Given the description of an element on the screen output the (x, y) to click on. 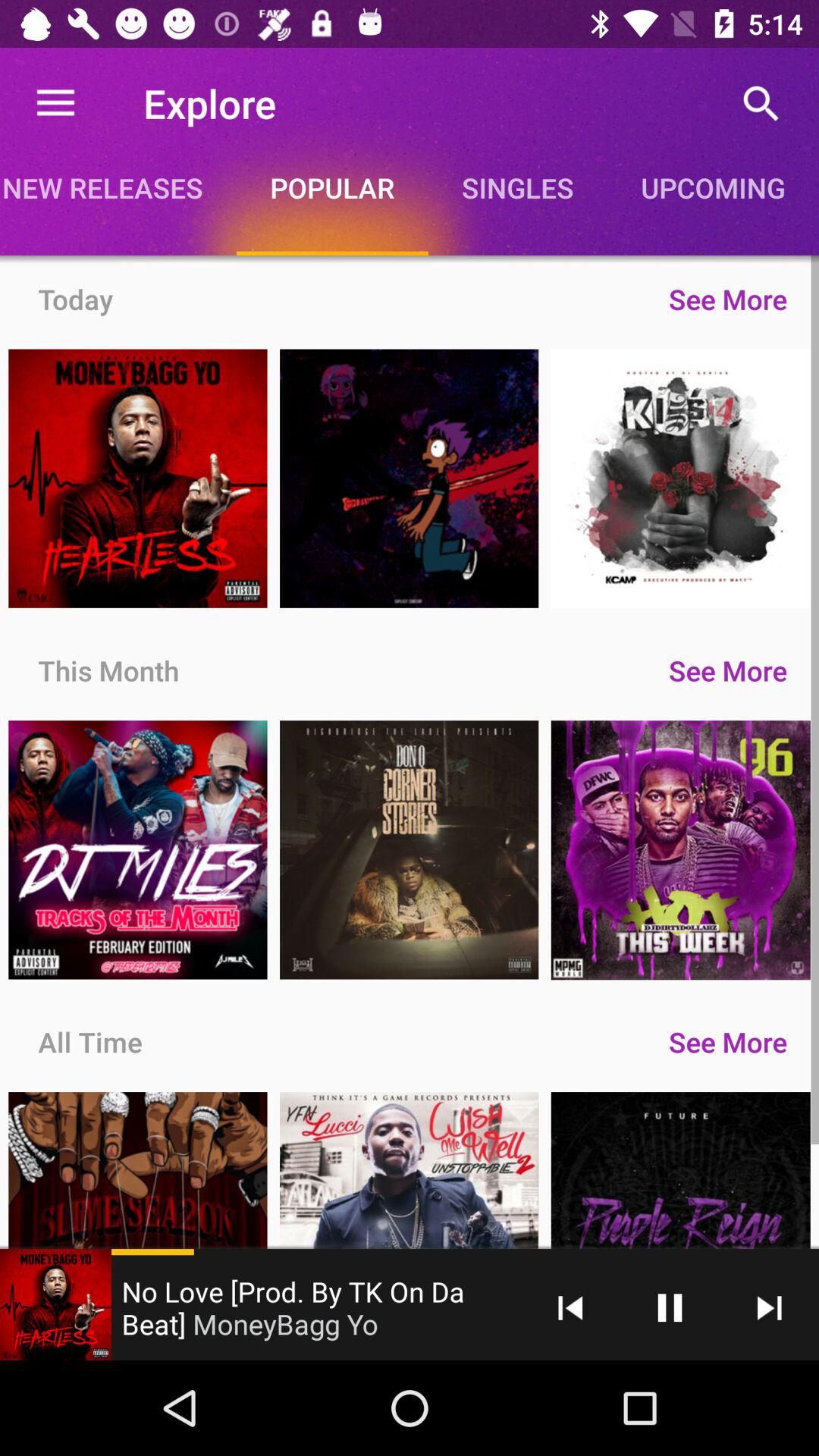
jump until upcoming (713, 187)
